Given the description of an element on the screen output the (x, y) to click on. 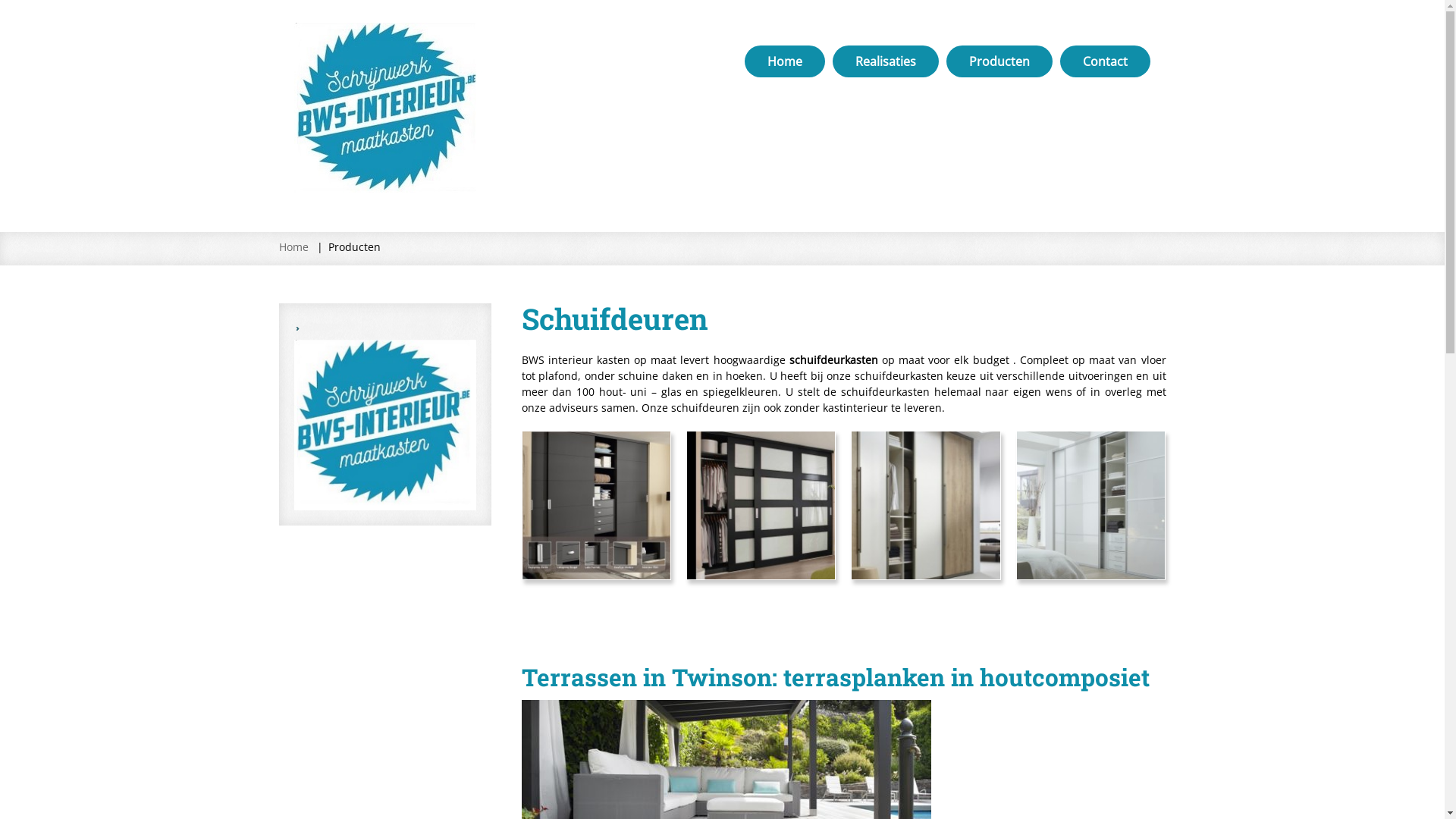
f47c2a230f2aaf7d92c5e6559cf3819d34e40243_at1600.jpg Element type: hover (760, 505)
19.jpg Element type: hover (1090, 505)
e819a14dc77791afe1f3b638f76afce161910f18.jpg Element type: hover (925, 505)
Producten Element type: text (999, 61)
Home Element type: text (293, 246)
schuifdeurkast_raffito_01.jpg Element type: hover (596, 505)
Contact Element type: text (1105, 61)
Home Element type: text (784, 61)
Realisaties Element type: text (885, 61)
